Given the description of an element on the screen output the (x, y) to click on. 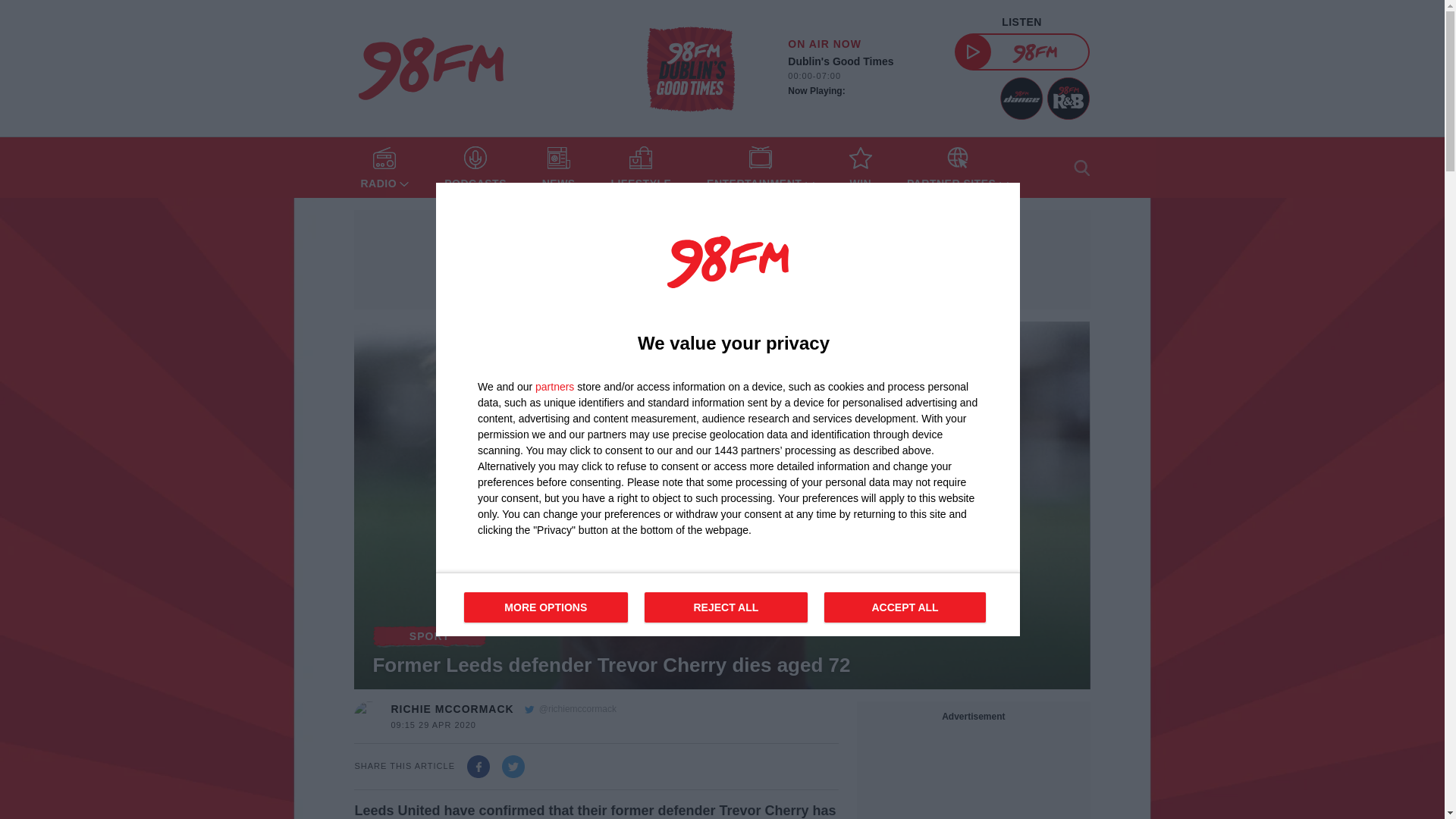
LIFESTYLE (640, 167)
Win (860, 167)
ENTERTAINMENT (760, 167)
partners (554, 386)
RADIO (383, 167)
Podcasts (475, 167)
SPORT (429, 635)
Lifestyle (640, 167)
WIN (860, 167)
REJECT ALL (726, 607)
News (557, 167)
NEWS (557, 167)
MORE OPTIONS (545, 607)
ACCEPT ALL (727, 604)
